Given the description of an element on the screen output the (x, y) to click on. 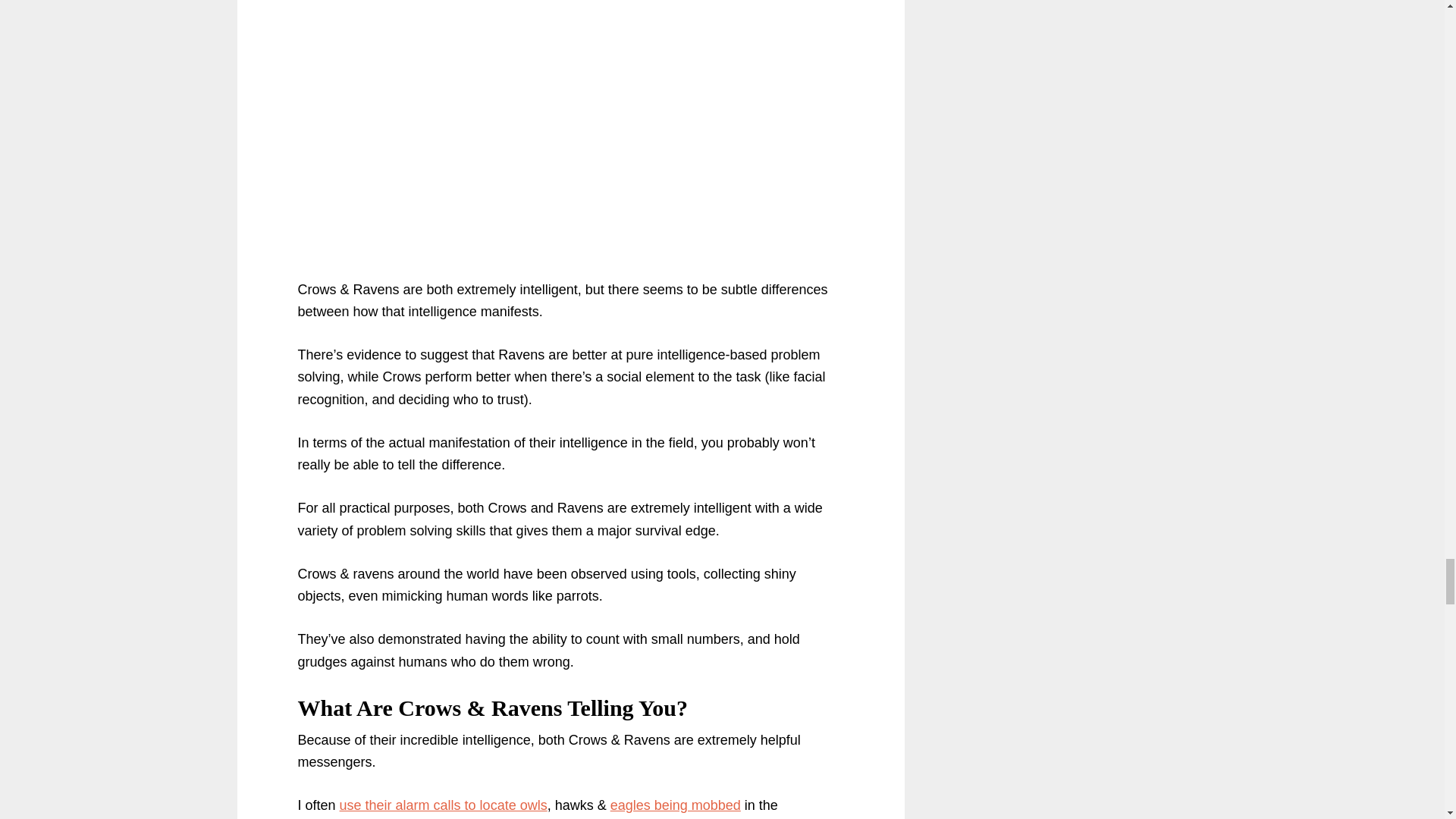
use their alarm calls to locate owls (443, 805)
eagles being mobbed (675, 805)
